Given the description of an element on the screen output the (x, y) to click on. 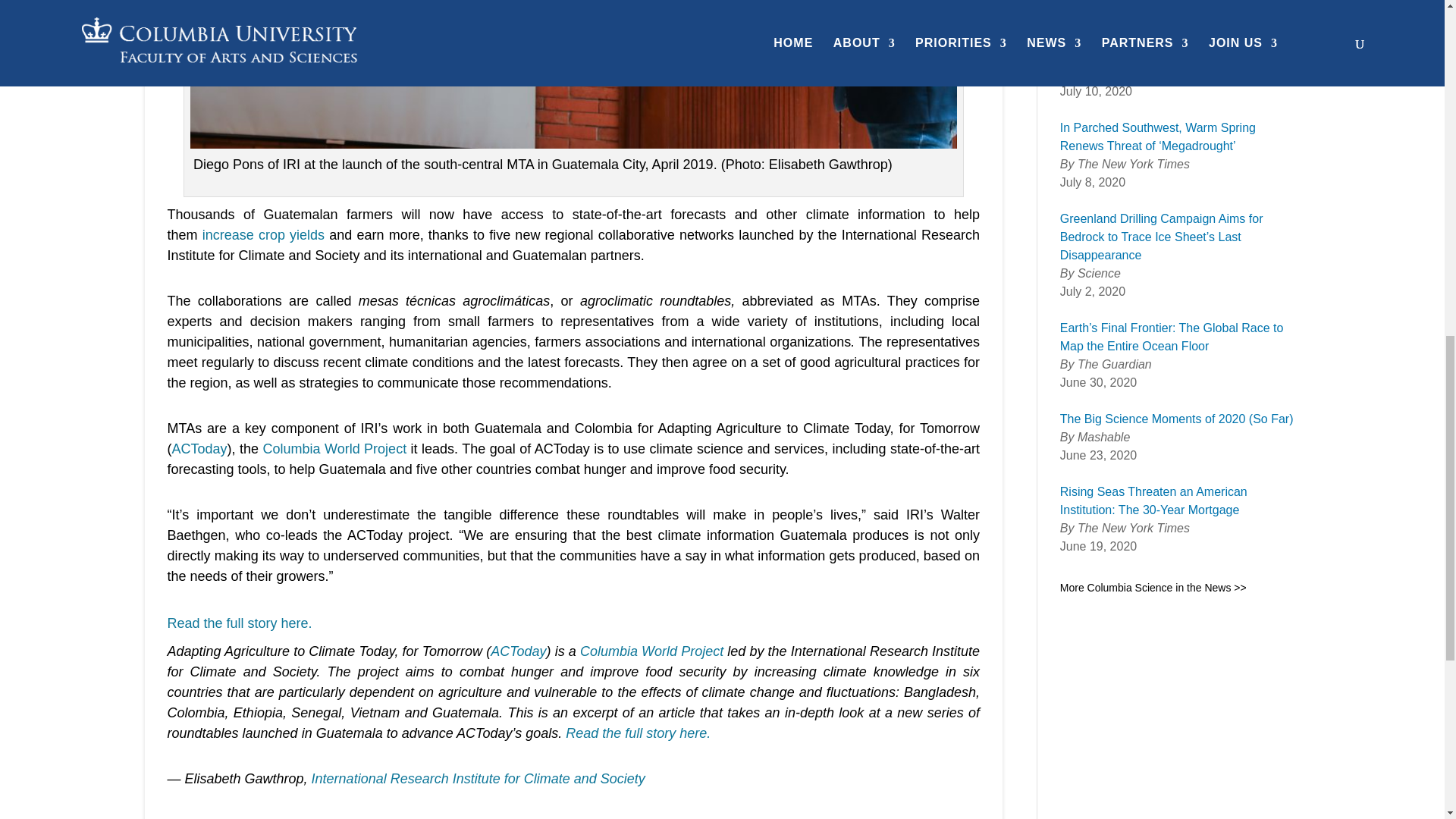
ACToday (518, 651)
Read the full story here. (638, 733)
increase crop yields (263, 234)
Columbia World Project (334, 448)
Read the full story here. (239, 622)
Columbia World Project (651, 651)
ACToday (199, 448)
